Given the description of an element on the screen output the (x, y) to click on. 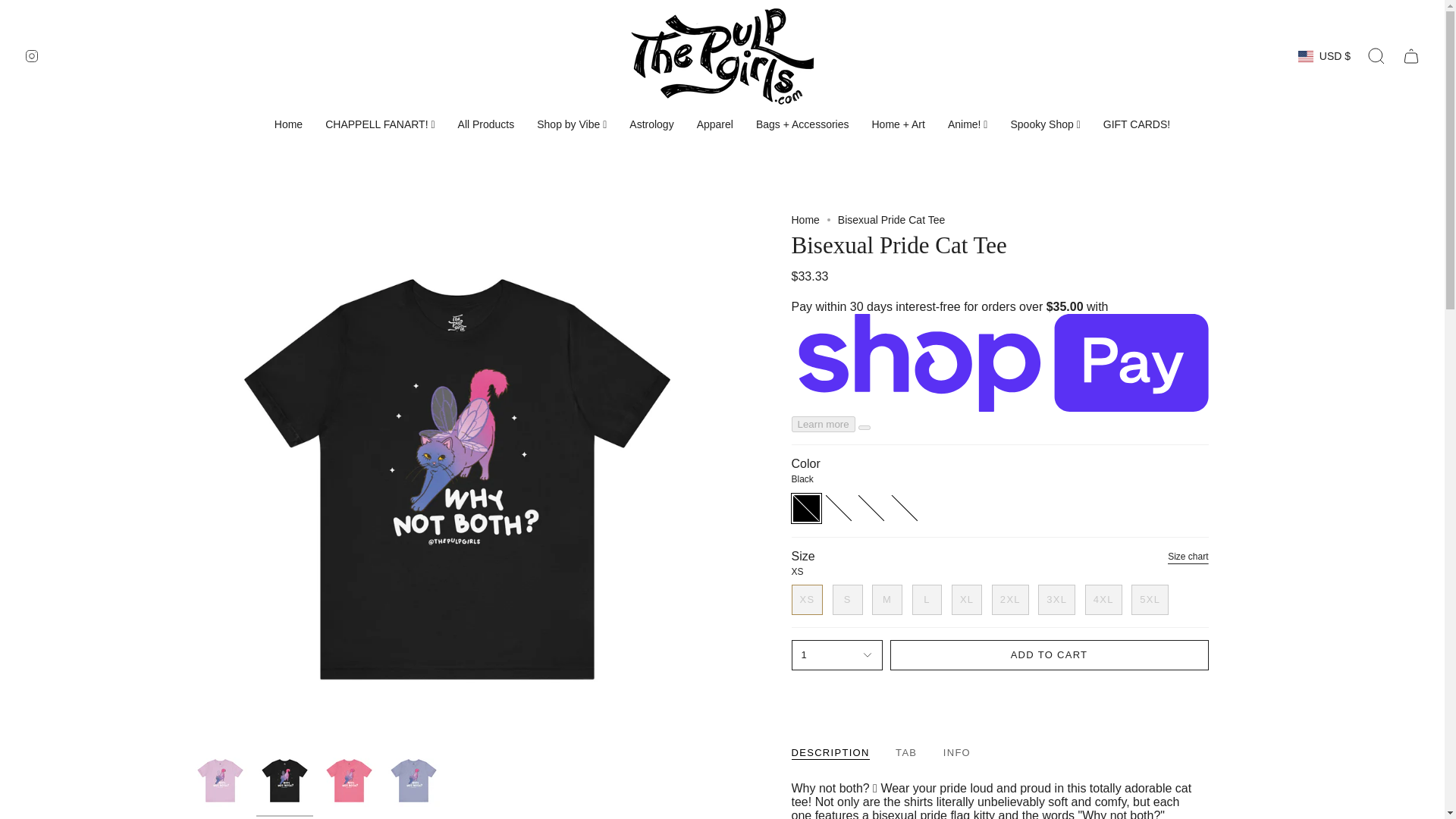
The Pulp Girls on Instagram (31, 55)
Cart (1410, 55)
Search (1375, 55)
